Given the description of an element on the screen output the (x, y) to click on. 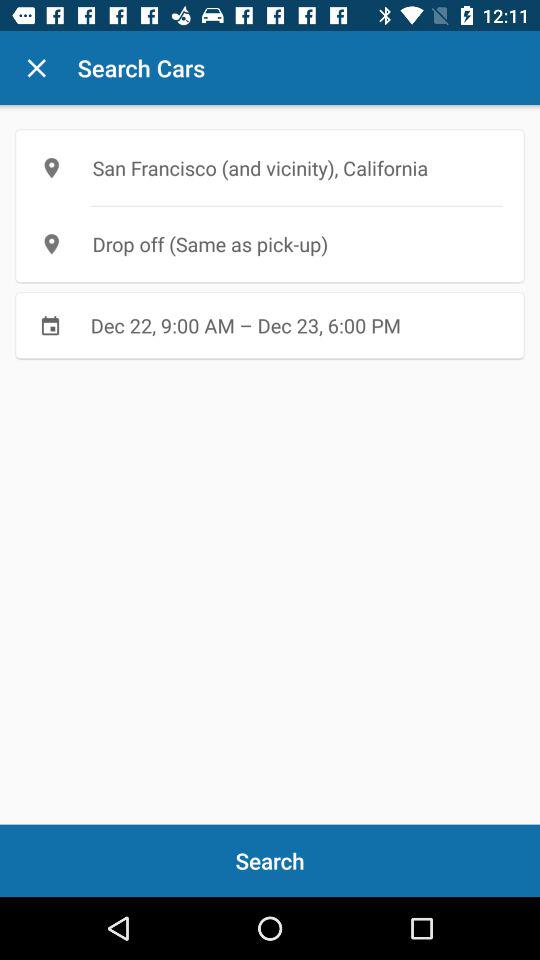
click the san francisco and (269, 168)
